Given the description of an element on the screen output the (x, y) to click on. 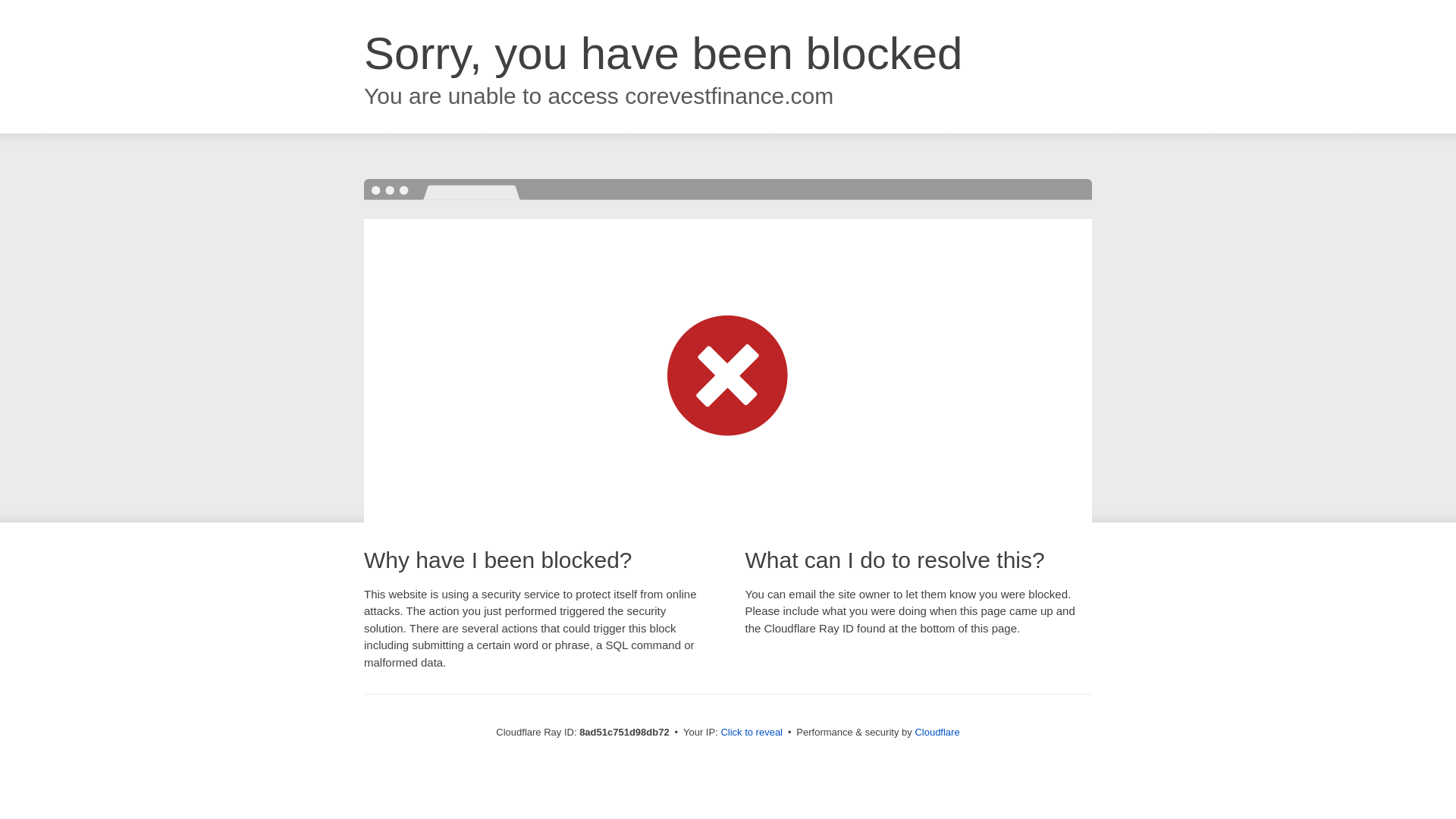
Cloudflare (936, 731)
Click to reveal (751, 732)
